Given the description of an element on the screen output the (x, y) to click on. 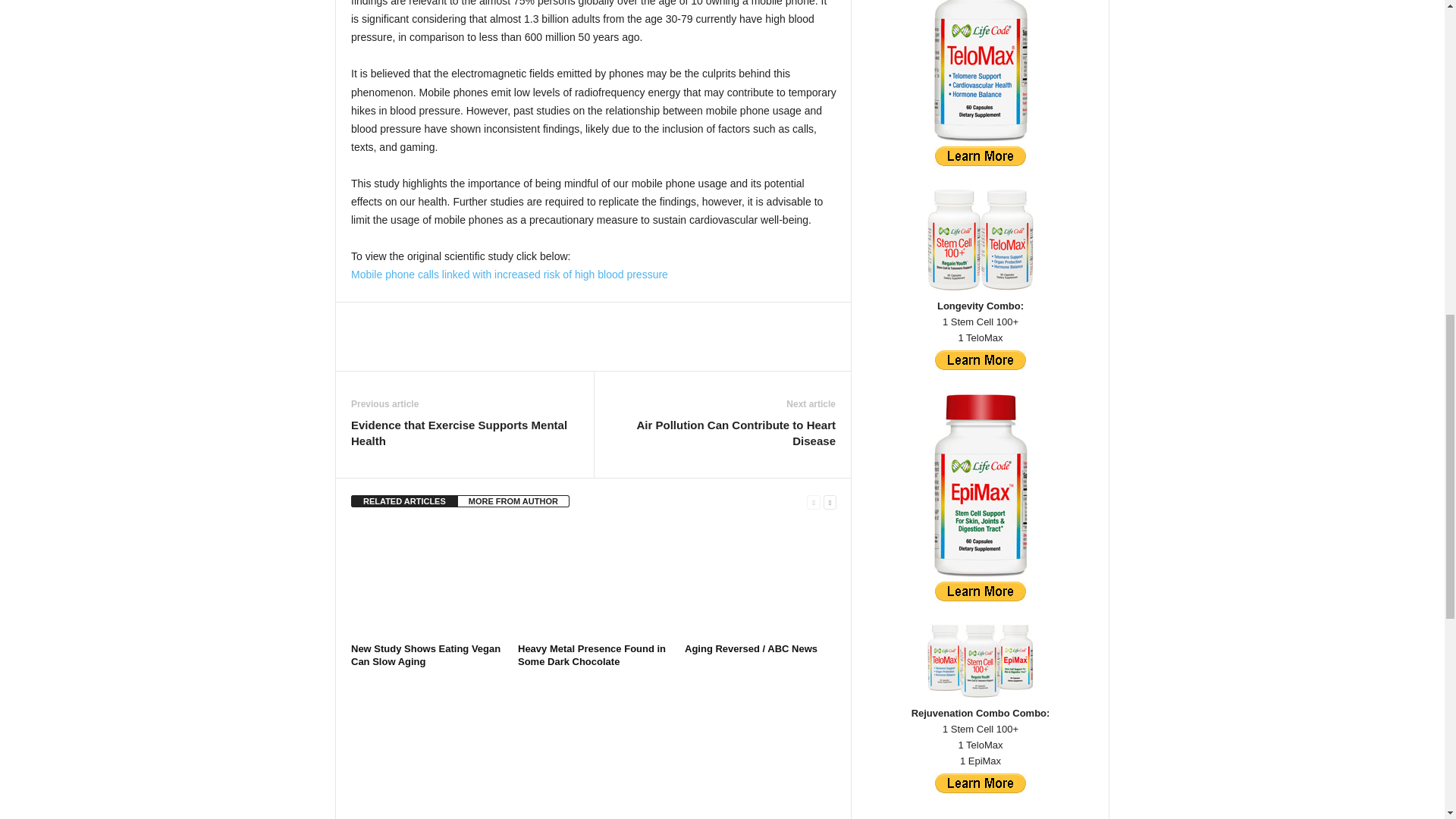
New Study Shows Eating Vegan Can Slow Aging (425, 654)
Heavy Metal Presence Found in Some Dark Chocolate (591, 654)
Heavy Metal Presence Found in Some Dark Chocolate (593, 581)
MORE FROM AUTHOR (513, 500)
New Study Shows Eating Vegan Can Slow Aging (425, 654)
bottomFacebookLike (390, 317)
Air Pollution Can Contribute to Heart Disease (721, 432)
New Study Shows Eating Vegan Can Slow Aging (426, 581)
Evidence that Exercise Supports Mental Health (464, 432)
